Given the description of an element on the screen output the (x, y) to click on. 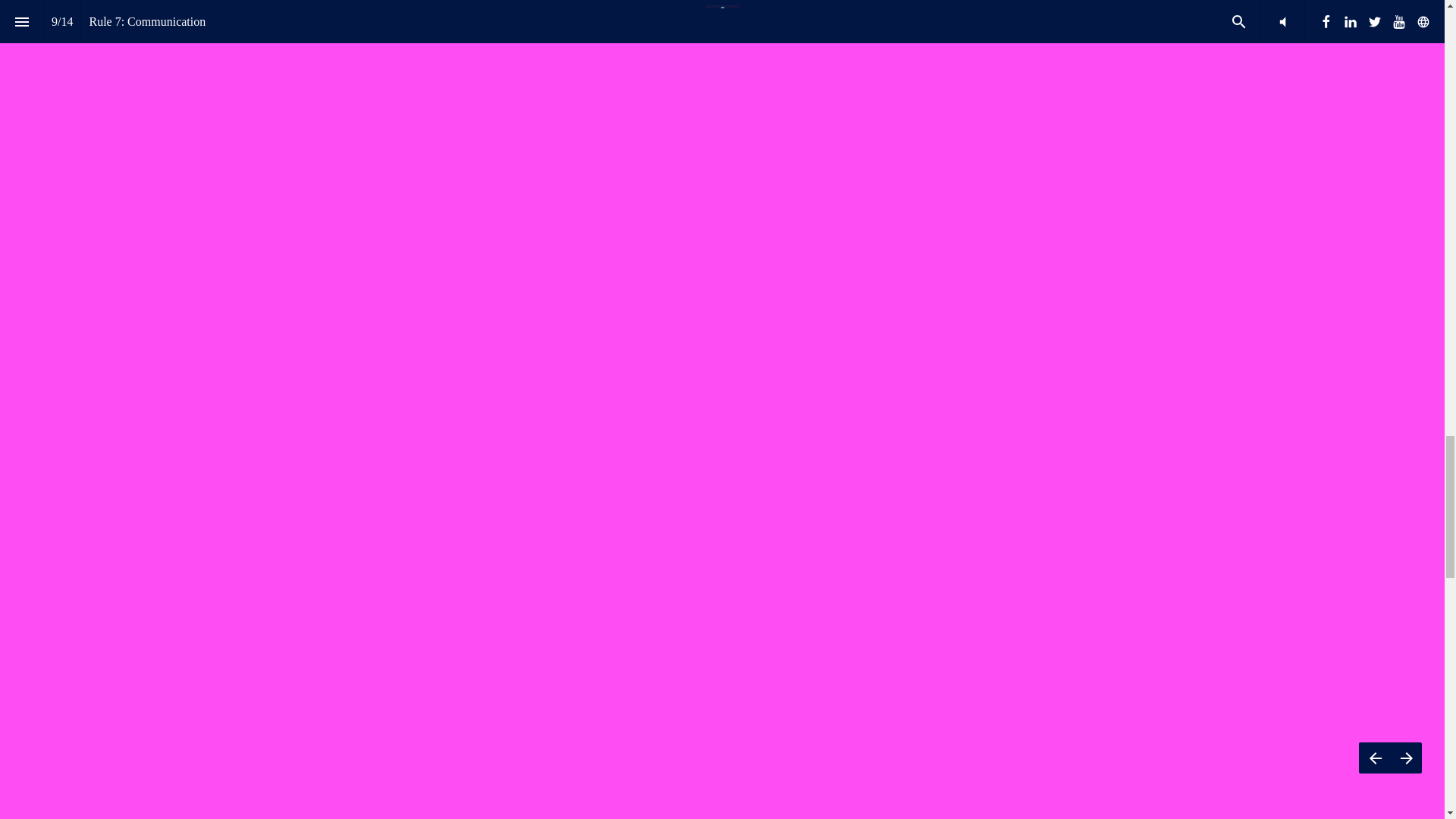
Read (728, 259)
Watch (461, 259)
Read (994, 237)
